Given the description of an element on the screen output the (x, y) to click on. 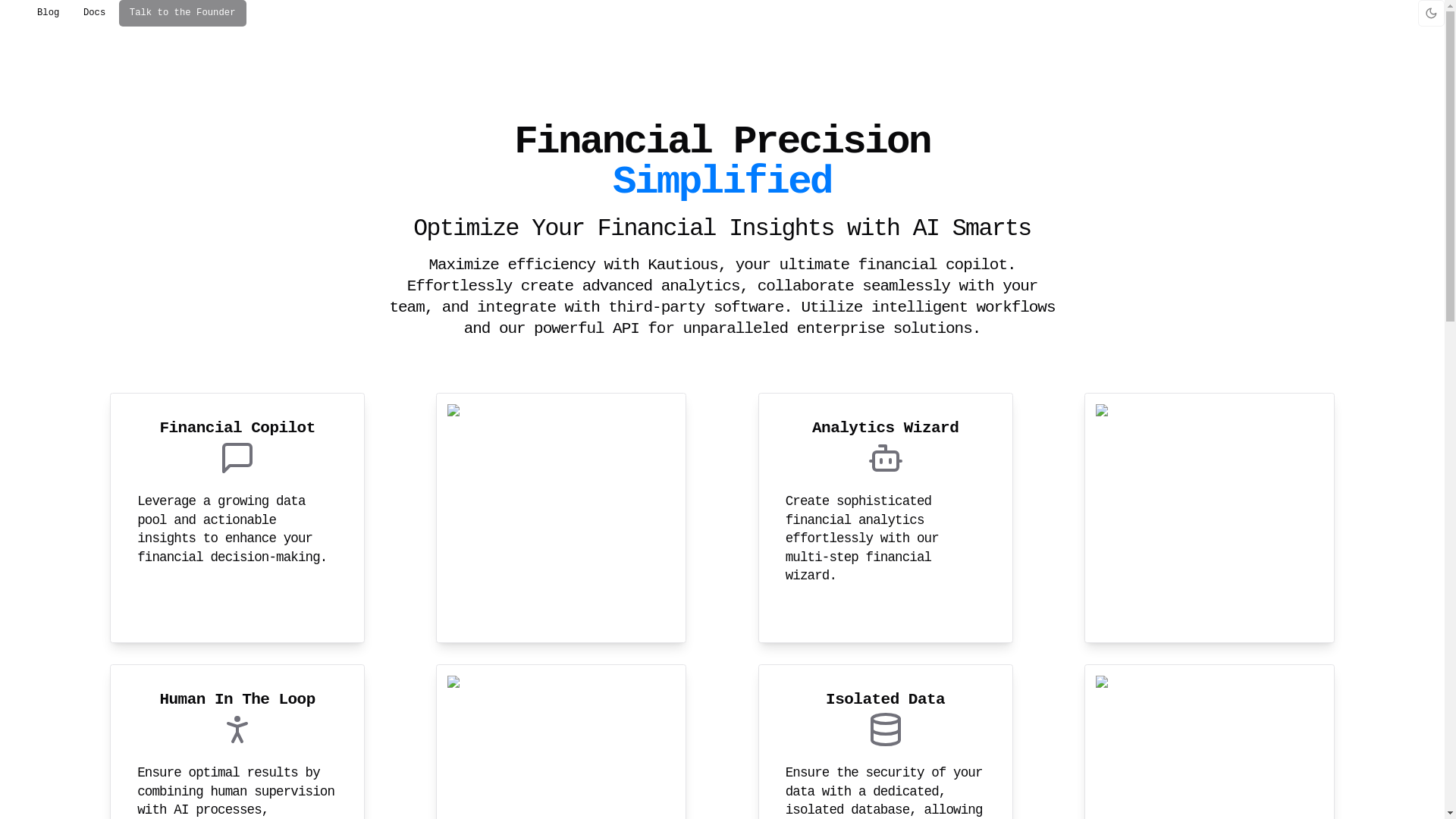
Talk to the Founder (182, 13)
Talk to the Founder (182, 11)
Docs (94, 13)
Blog (47, 13)
